Given the description of an element on the screen output the (x, y) to click on. 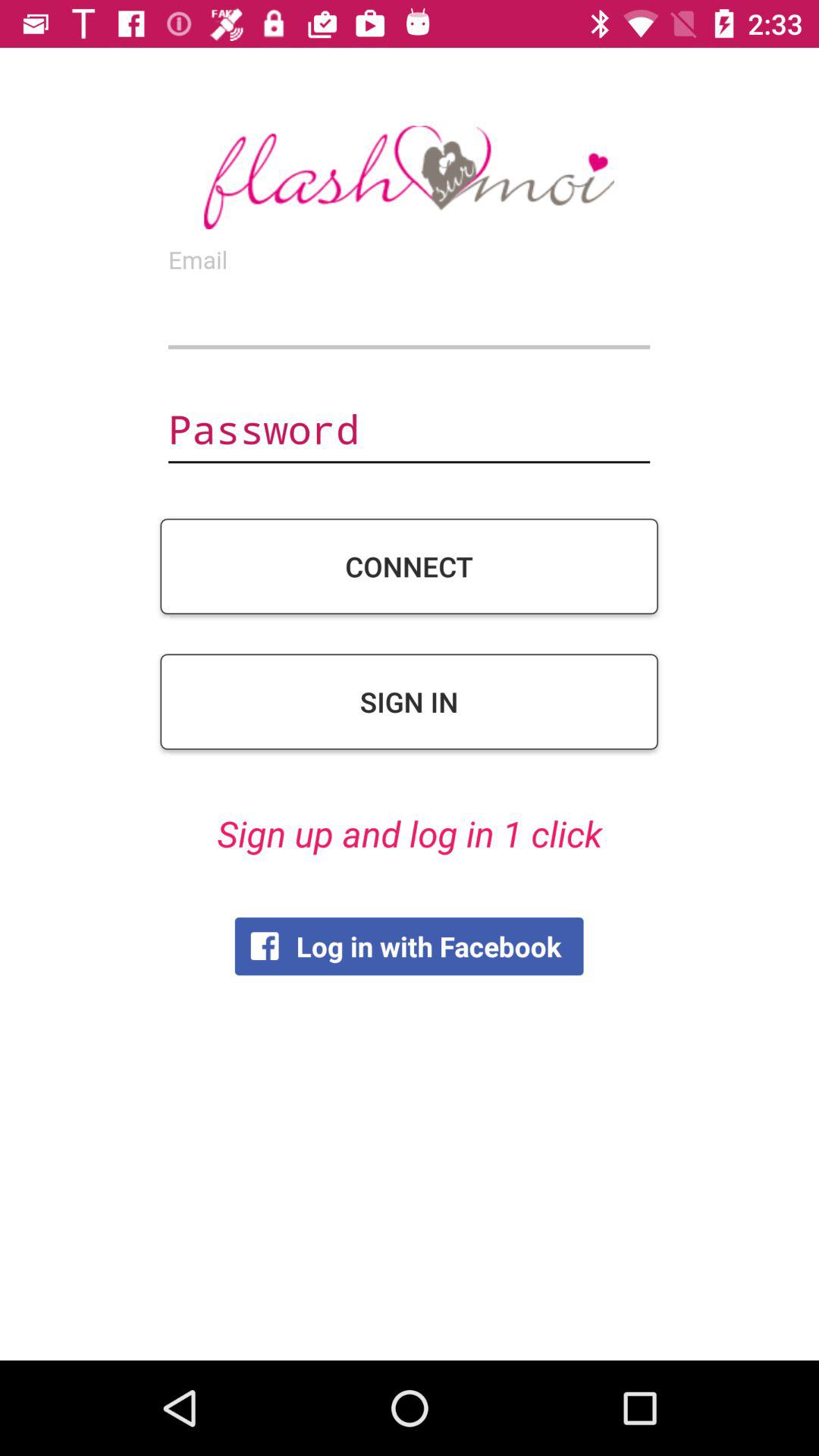
input your password (409, 431)
